Given the description of an element on the screen output the (x, y) to click on. 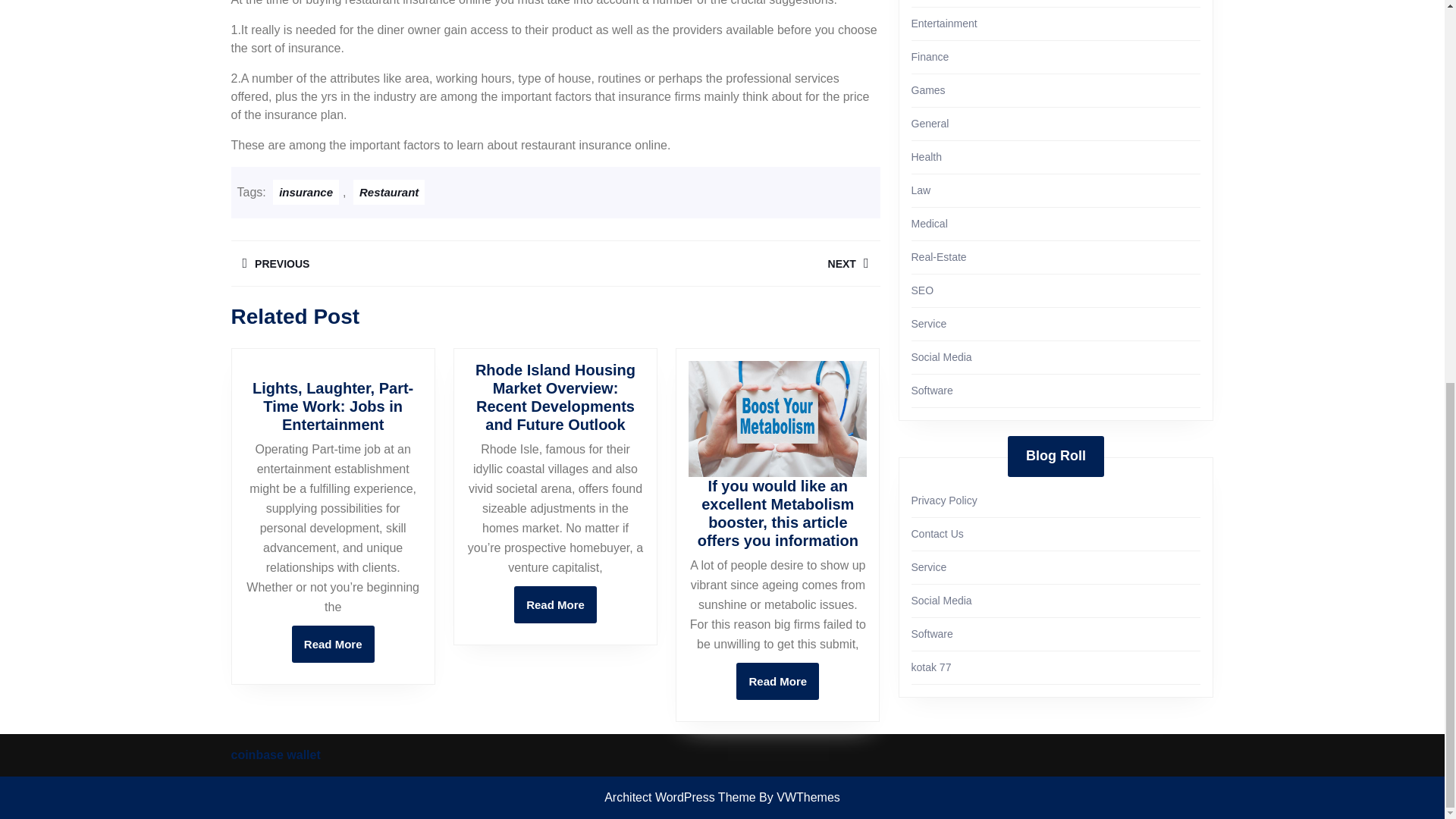
Games (927, 90)
Restaurant (392, 263)
Law (389, 191)
insurance (554, 604)
